Given the description of an element on the screen output the (x, y) to click on. 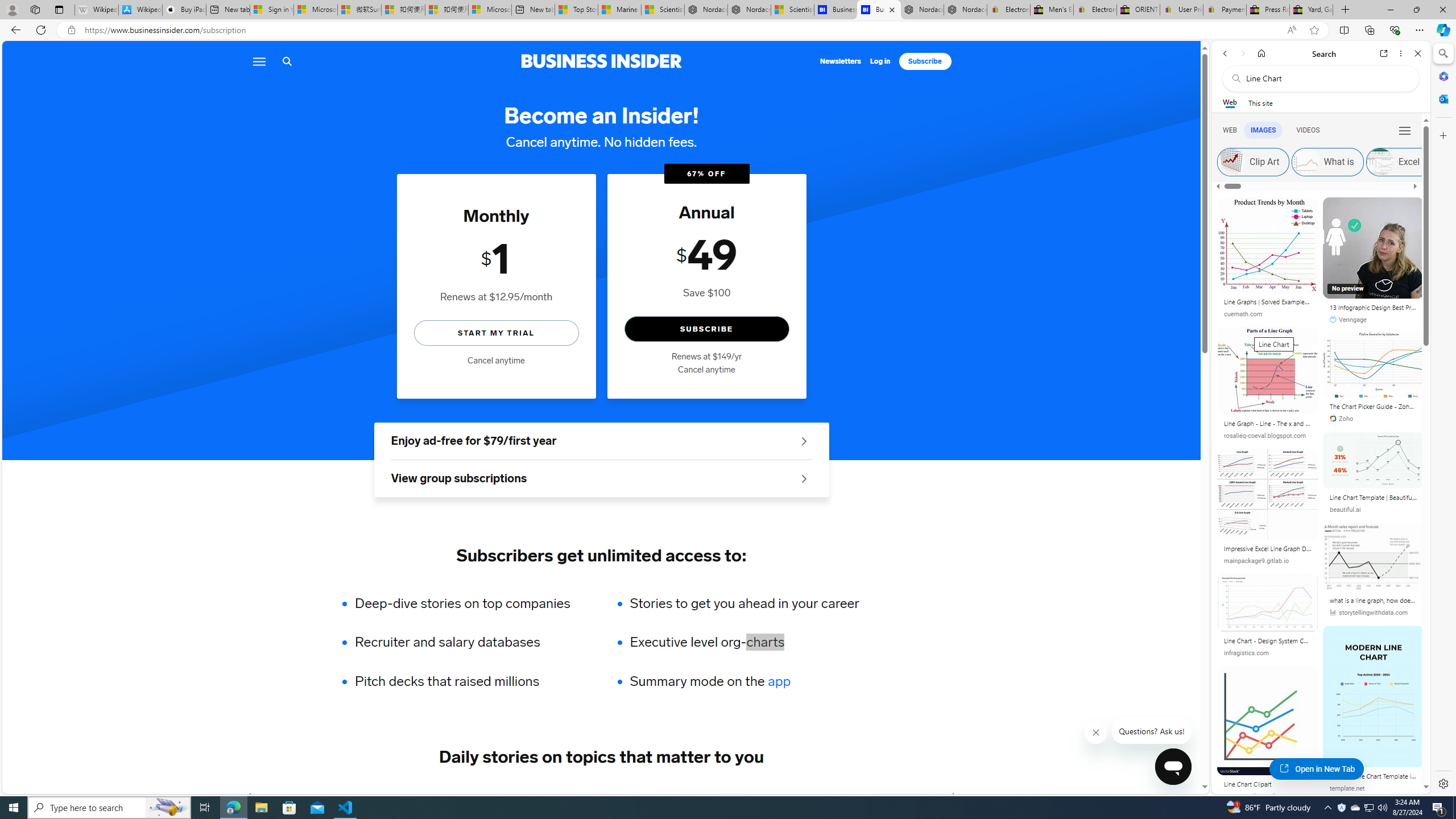
STRATEGY (890, 796)
Payments Terms of Use | eBay.com (1224, 9)
User Privacy Notice | eBay (1181, 9)
Open link in new tab (1383, 53)
Electronics, Cars, Fashion, Collectibles & More | eBay (1094, 9)
Sign in to your Microsoft account (271, 9)
Subscribe (925, 61)
storytellingwithdata.com (1372, 612)
17:36 (1343, 207)
cuemath.com (1267, 313)
rosalieq-coeval.blogspot.com (1267, 435)
Line Graphs | Solved Examples | Data- Cuemath (1267, 303)
SUBSCRIBE (706, 329)
